Given the description of an element on the screen output the (x, y) to click on. 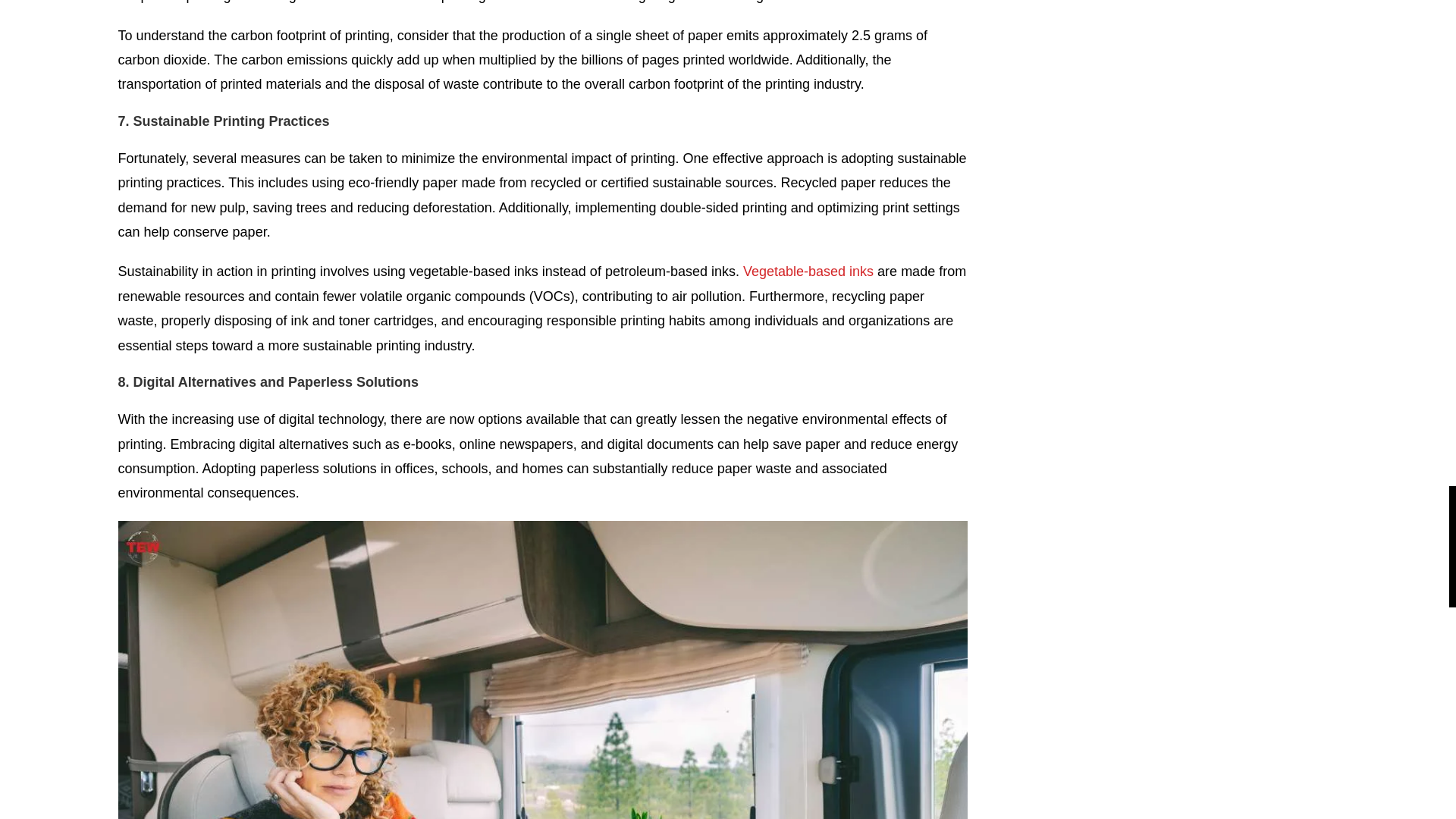
Vegetable-based inks (807, 271)
